Given the description of an element on the screen output the (x, y) to click on. 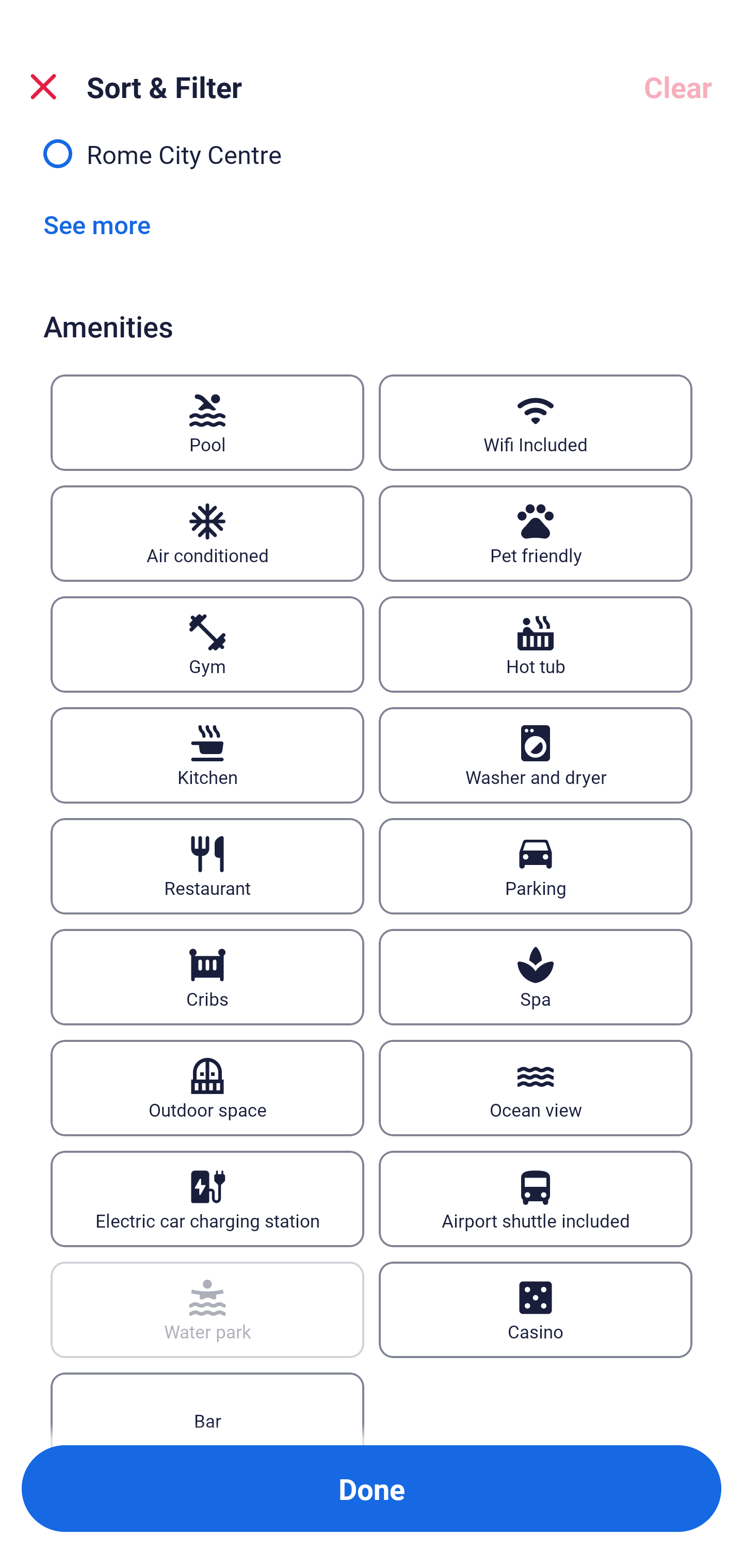
Close Sort and Filter (43, 86)
Clear (677, 86)
Rome City Centre (371, 163)
See more See more neighborhoods Link (96, 224)
Pool (207, 422)
Wifi Included (535, 422)
Air conditioned (207, 533)
Pet friendly (535, 533)
Gym (207, 644)
Hot tub (535, 644)
Kitchen (207, 754)
Washer and dryer (535, 754)
Restaurant (207, 866)
Parking (535, 866)
Cribs (207, 976)
Spa (535, 976)
Outdoor space (207, 1087)
Ocean view (535, 1087)
Electric car charging station (207, 1198)
Airport shuttle included (535, 1198)
Water park (207, 1309)
Casino (535, 1309)
Bar (207, 1408)
Apply and close Sort and Filter Done (371, 1488)
